Given the description of an element on the screen output the (x, y) to click on. 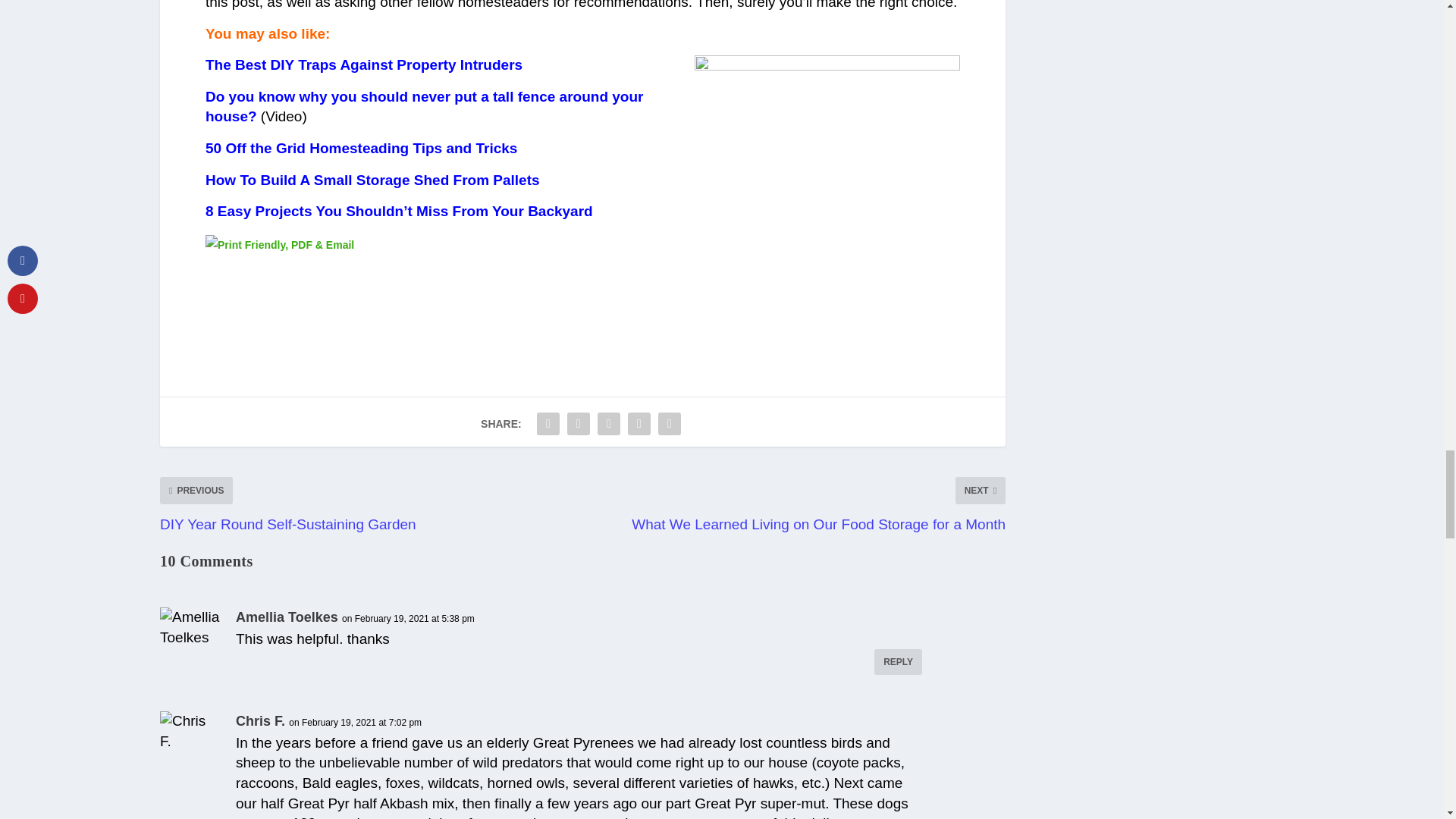
Share "Best Dog Breeds For Homesteaders" via Twitter (578, 423)
50 Off the Grid Homesteading Tips and Tricks (360, 148)
Share "Best Dog Breeds For Homesteaders" via Facebook (547, 423)
How To Build A Small Storage Shed From Pallets (372, 179)
Share "Best Dog Breeds For Homesteaders" via Pinterest (609, 423)
Share "Best Dog Breeds For Homesteaders" via Email (638, 423)
REPLY (898, 661)
The Best DIY Traps Against Property Intruders (363, 64)
Share "Best Dog Breeds For Homesteaders" via Print (668, 423)
